Given the description of an element on the screen output the (x, y) to click on. 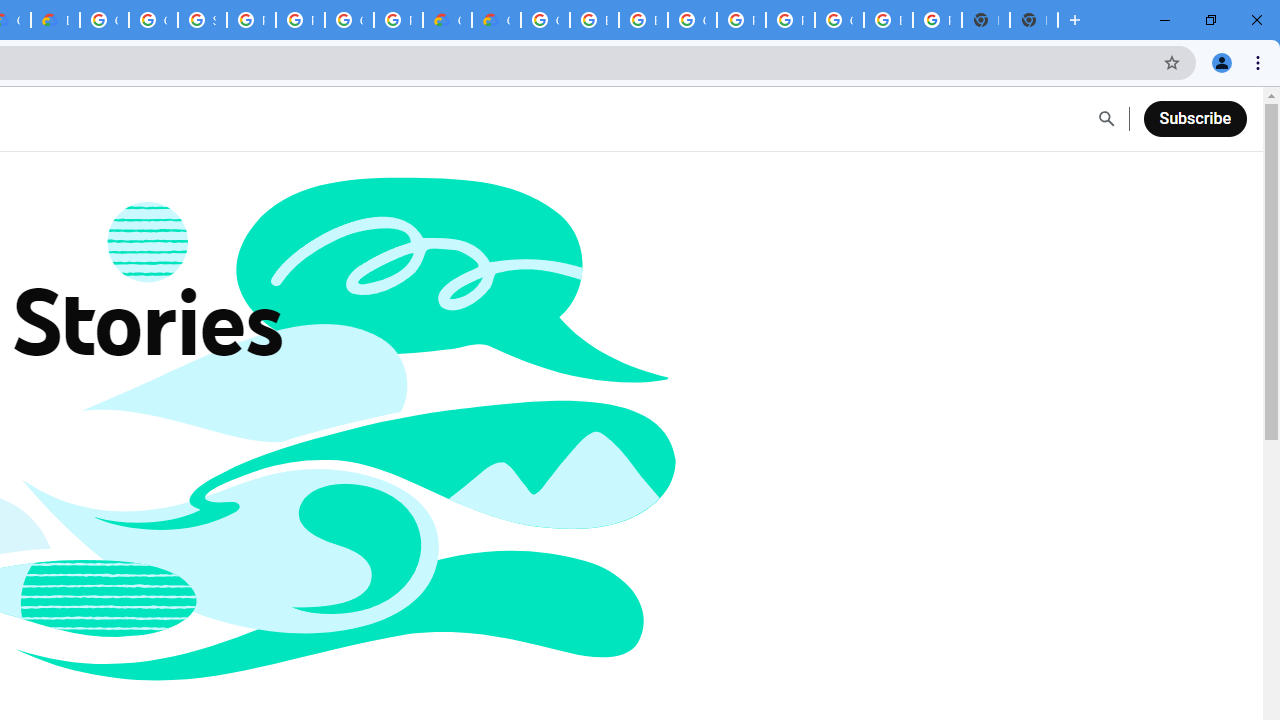
Google Cloud Estimate Summary (496, 20)
Customer Care | Google Cloud (447, 20)
Browse Chrome as a guest - Computer - Google Chrome Help (643, 20)
New Tab (1033, 20)
Google Cloud Platform (349, 20)
Sign in - Google Accounts (201, 20)
